Given the description of an element on the screen output the (x, y) to click on. 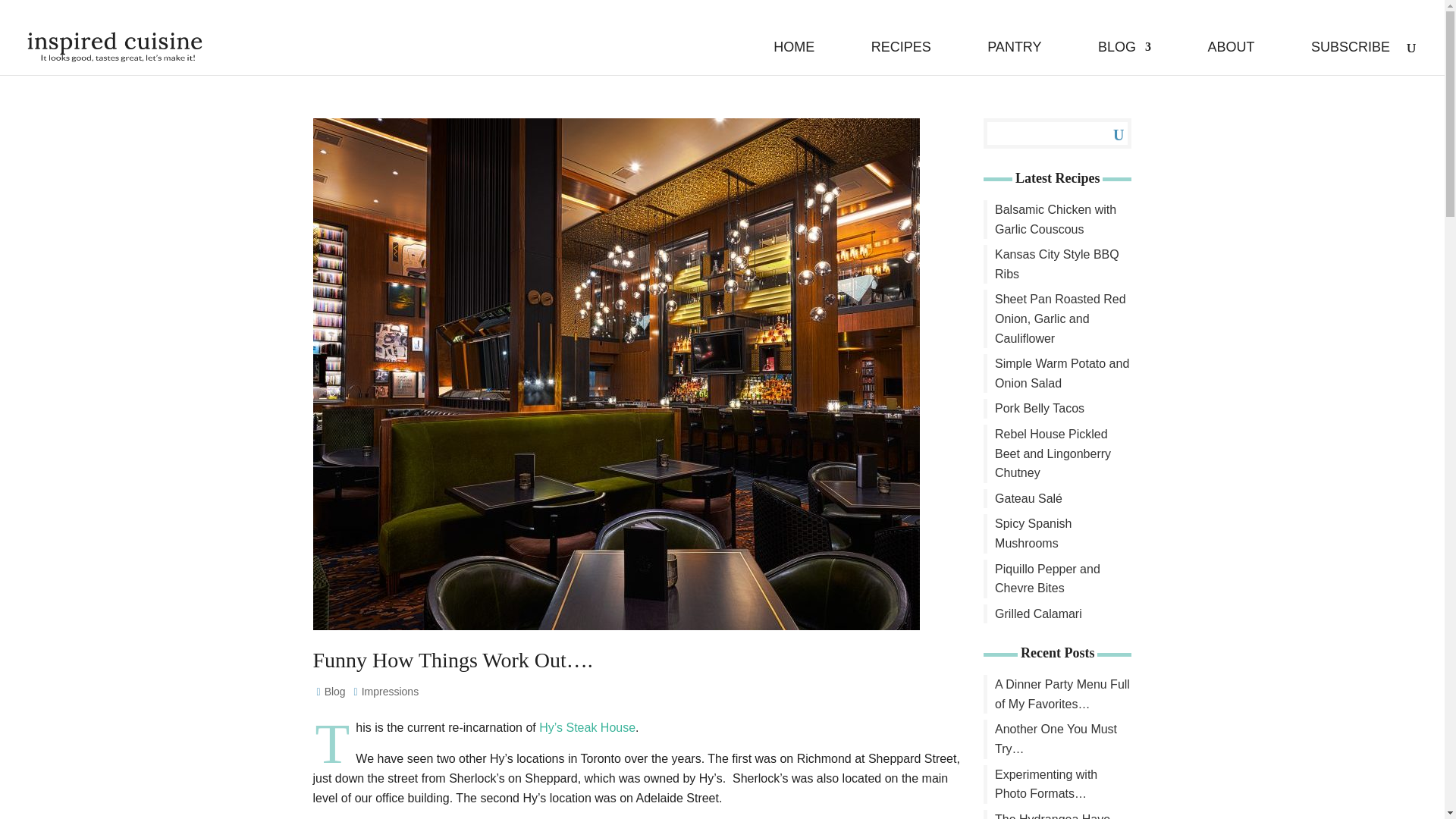
HOME (793, 57)
RECIPES (900, 57)
PANTRY (1014, 57)
BLOG (1124, 57)
Search (1107, 132)
ABOUT (1230, 57)
SUBSCRIBE (1350, 57)
